Given the description of an element on the screen output the (x, y) to click on. 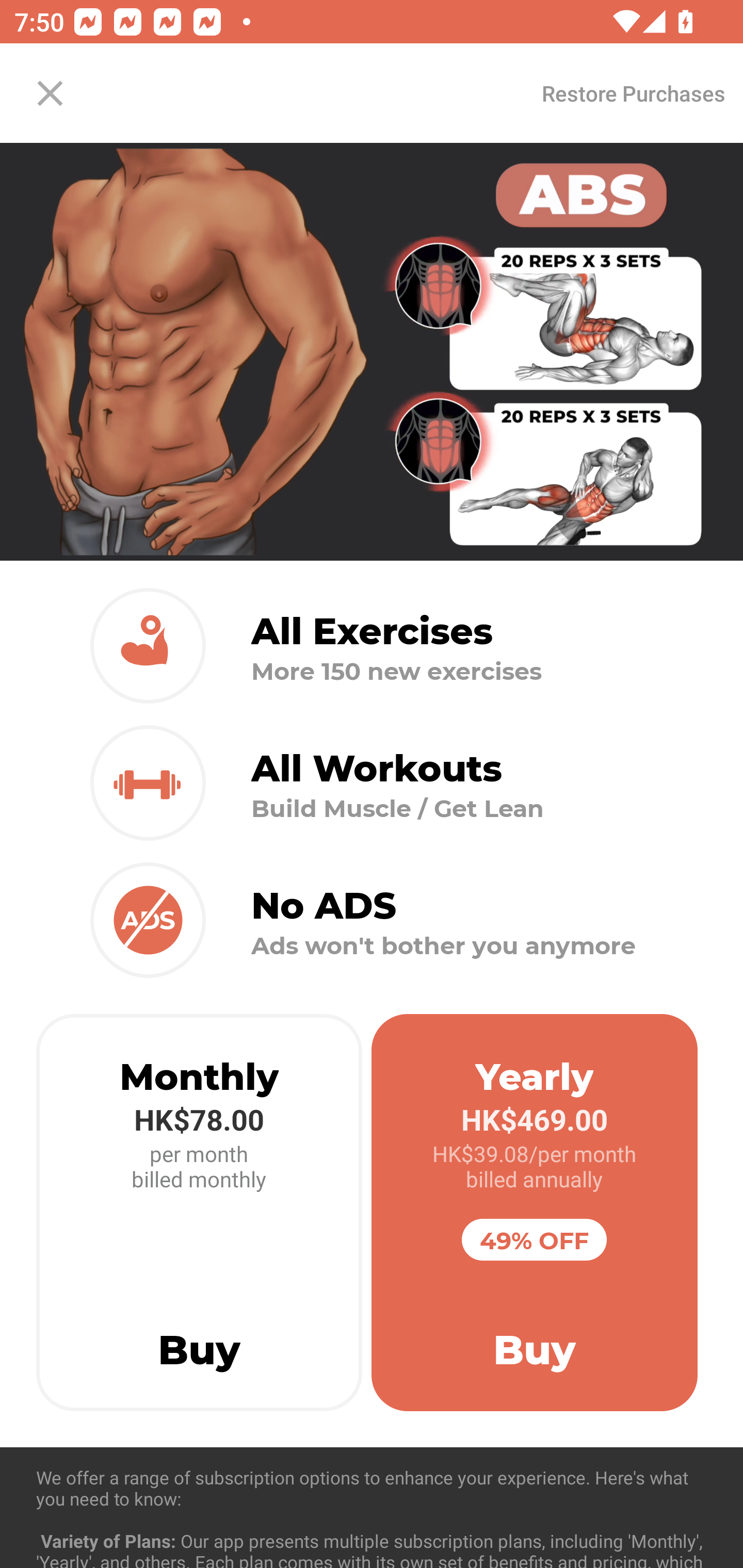
Restore Purchases (632, 92)
Monthly HK$78.00 per month
billed monthly Buy (199, 1212)
